Given the description of an element on the screen output the (x, y) to click on. 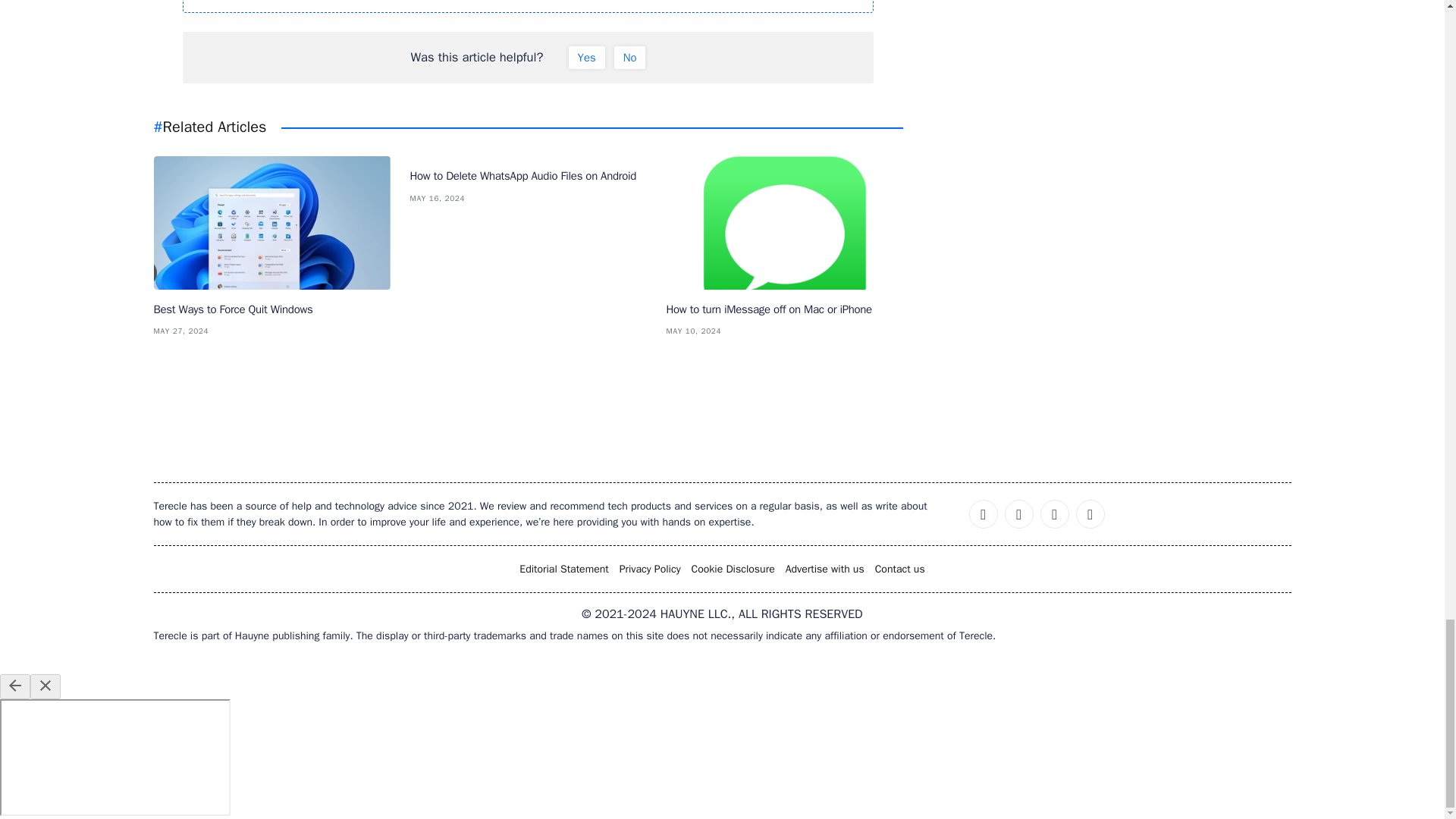
Best Ways to Force Quit Windows (271, 309)
Pinterest (1054, 513)
Facebook (983, 513)
How to turn iMessage off on Mac or iPhone (783, 309)
YouTube (1090, 513)
How to Delete WhatsApp Audio Files on Android (527, 175)
